Given the description of an element on the screen output the (x, y) to click on. 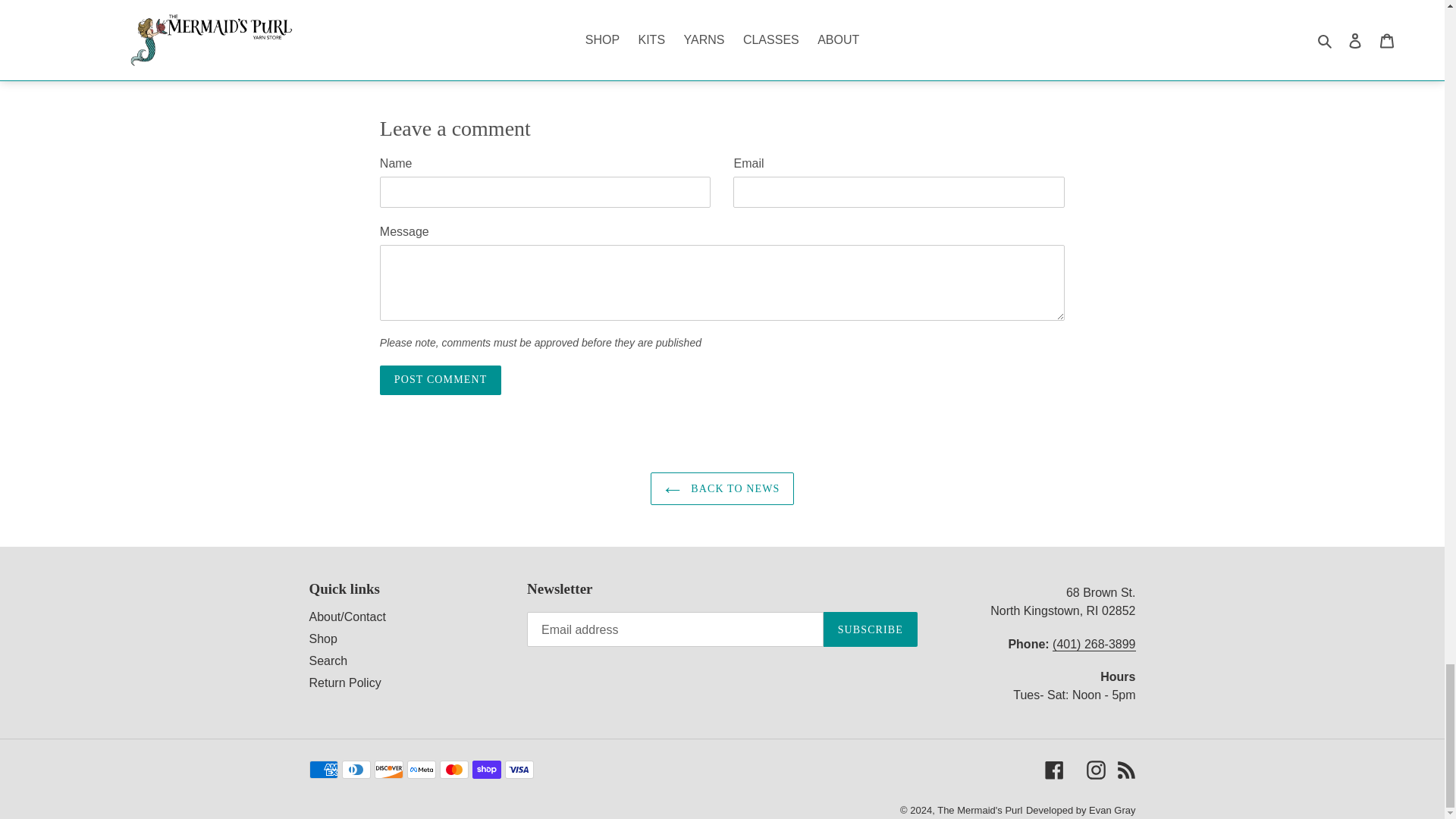
American Express (322, 769)
Mastercard (453, 769)
Diners Club (354, 769)
Meta Pay (420, 769)
Discover (388, 769)
Shop Pay (485, 769)
Post comment (440, 379)
Visa (519, 769)
